Given the description of an element on the screen output the (x, y) to click on. 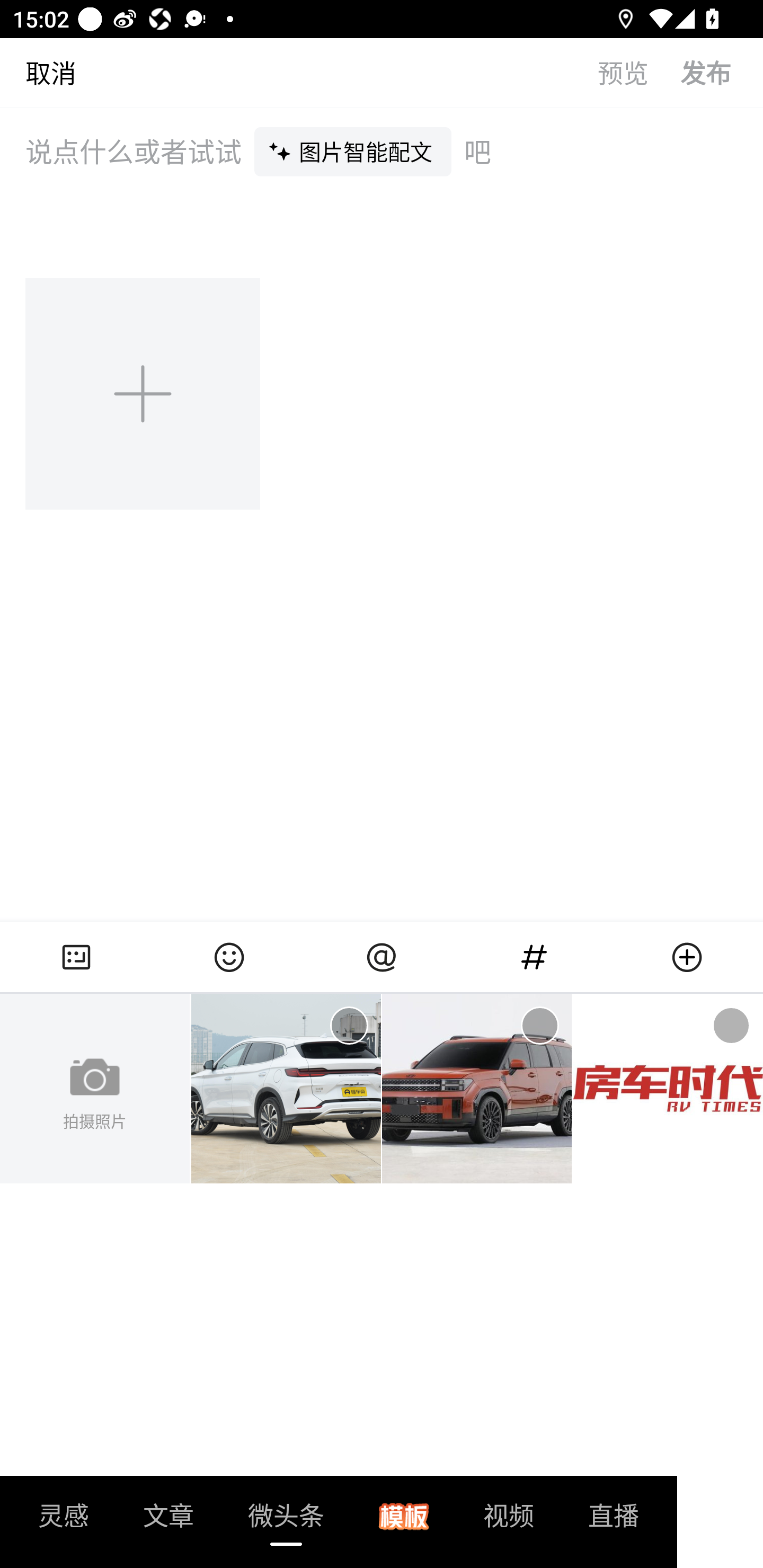
取消 (38, 71)
预览 (638, 71)
发布 (721, 71)
图片智能配文 (352, 151)
添加图片 (144, 393)
相册 (76, 956)
表情 (228, 956)
at (381, 956)
话题 (533, 956)
更多 (686, 956)
拍摄照片 (94, 1088)
图片1 (285, 1088)
未选中 (348, 1025)
图片2 (476, 1088)
未选中 (539, 1025)
图片3 (668, 1088)
未选中 (731, 1025)
灵感 (63, 1521)
文章 (168, 1521)
微头条 (285, 1521)
视频 (508, 1521)
直播 (613, 1521)
